Given the description of an element on the screen output the (x, y) to click on. 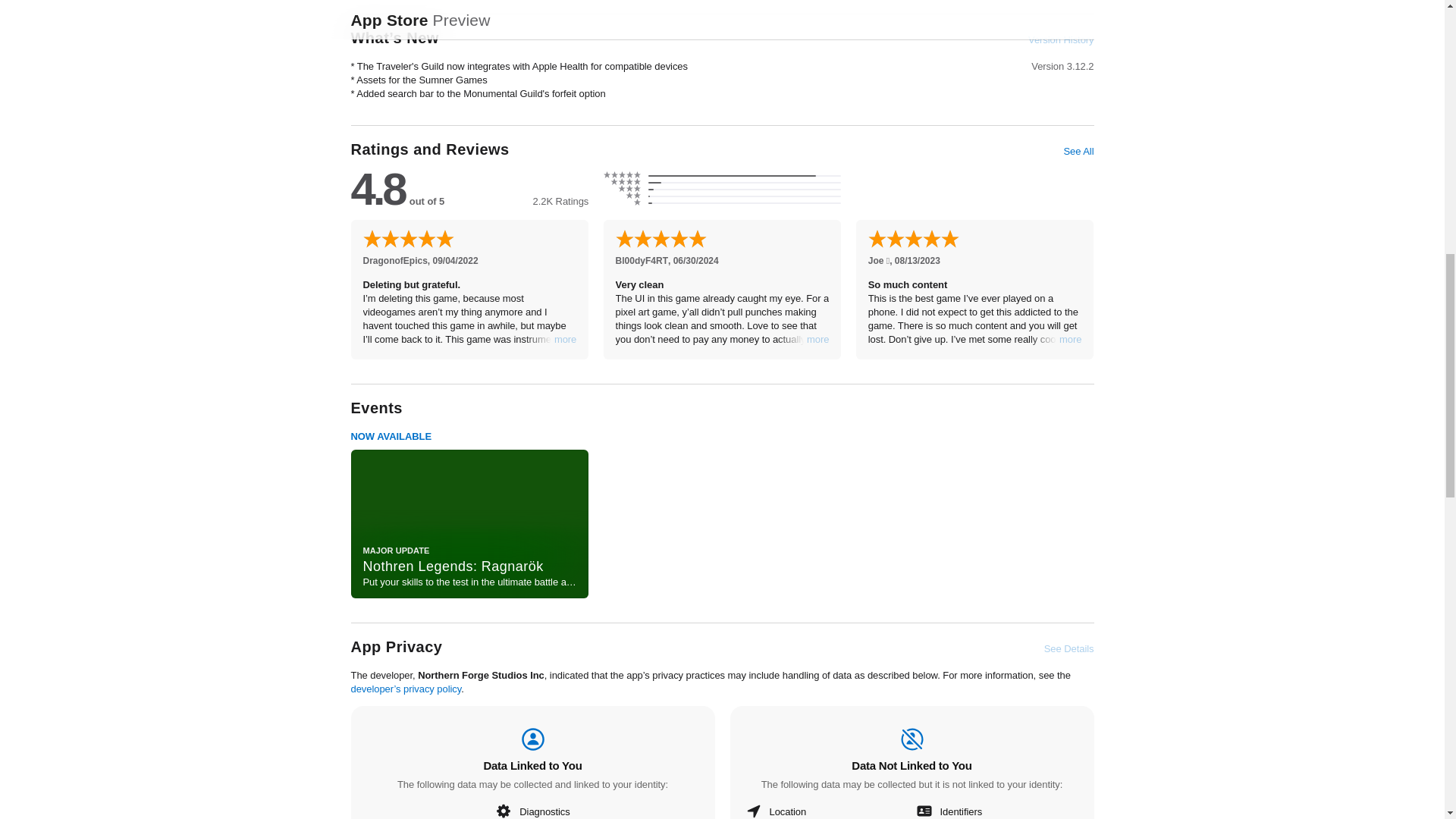
Version History (1060, 39)
more (565, 339)
more (817, 339)
more (1070, 339)
See Details (1068, 649)
See All (1077, 151)
